Given the description of an element on the screen output the (x, y) to click on. 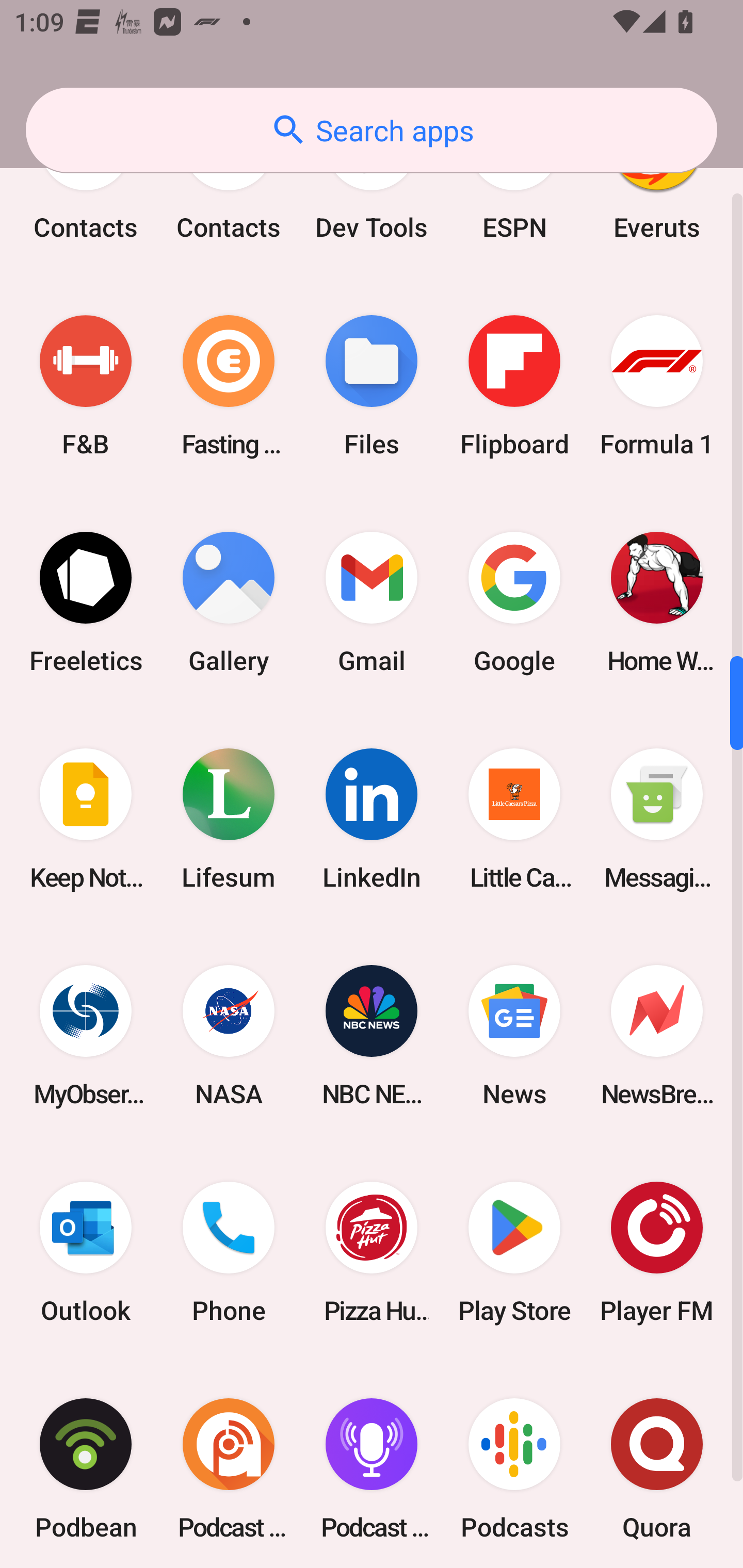
  Search apps (371, 130)
F&B (85, 385)
Fasting Coach (228, 385)
Files (371, 385)
Flipboard (514, 385)
Formula 1 (656, 385)
Freeletics (85, 601)
Gallery (228, 601)
Gmail (371, 601)
Google (514, 601)
Home Workout (656, 601)
Keep Notes (85, 818)
Lifesum (228, 818)
LinkedIn (371, 818)
Little Caesars Pizza (514, 818)
Messaging (656, 818)
MyObservatory (85, 1035)
NASA (228, 1035)
NBC NEWS (371, 1035)
News (514, 1035)
NewsBreak (656, 1035)
Outlook (85, 1252)
Phone (228, 1252)
Pizza Hut HK & Macau (371, 1252)
Play Store (514, 1252)
Player FM (656, 1252)
Podbean (85, 1464)
Podcast Addict (228, 1464)
Podcast Player (371, 1464)
Podcasts (514, 1464)
Quora (656, 1464)
